Given the description of an element on the screen output the (x, y) to click on. 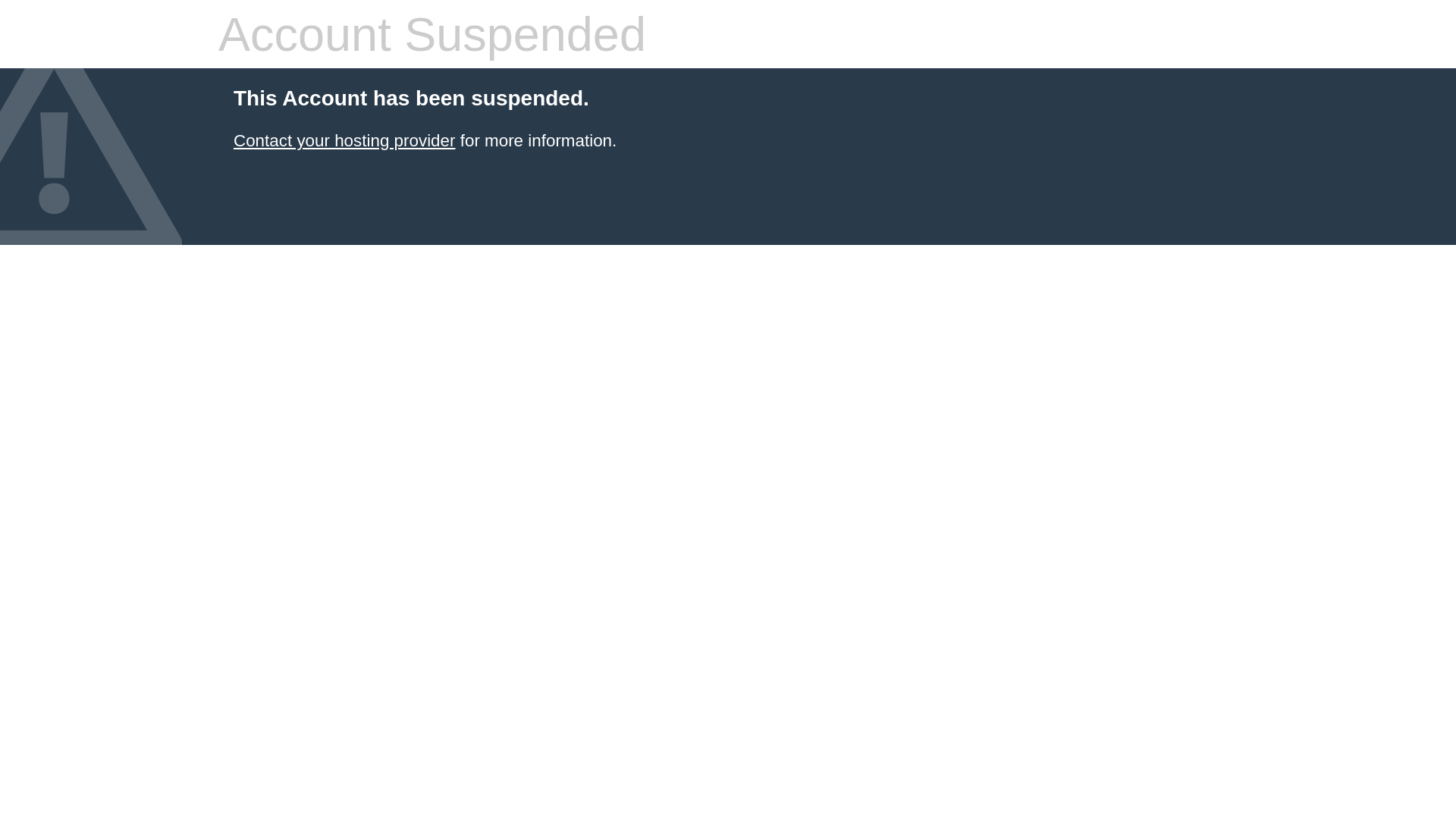
Contact your hosting provider Element type: text (344, 140)
